Given the description of an element on the screen output the (x, y) to click on. 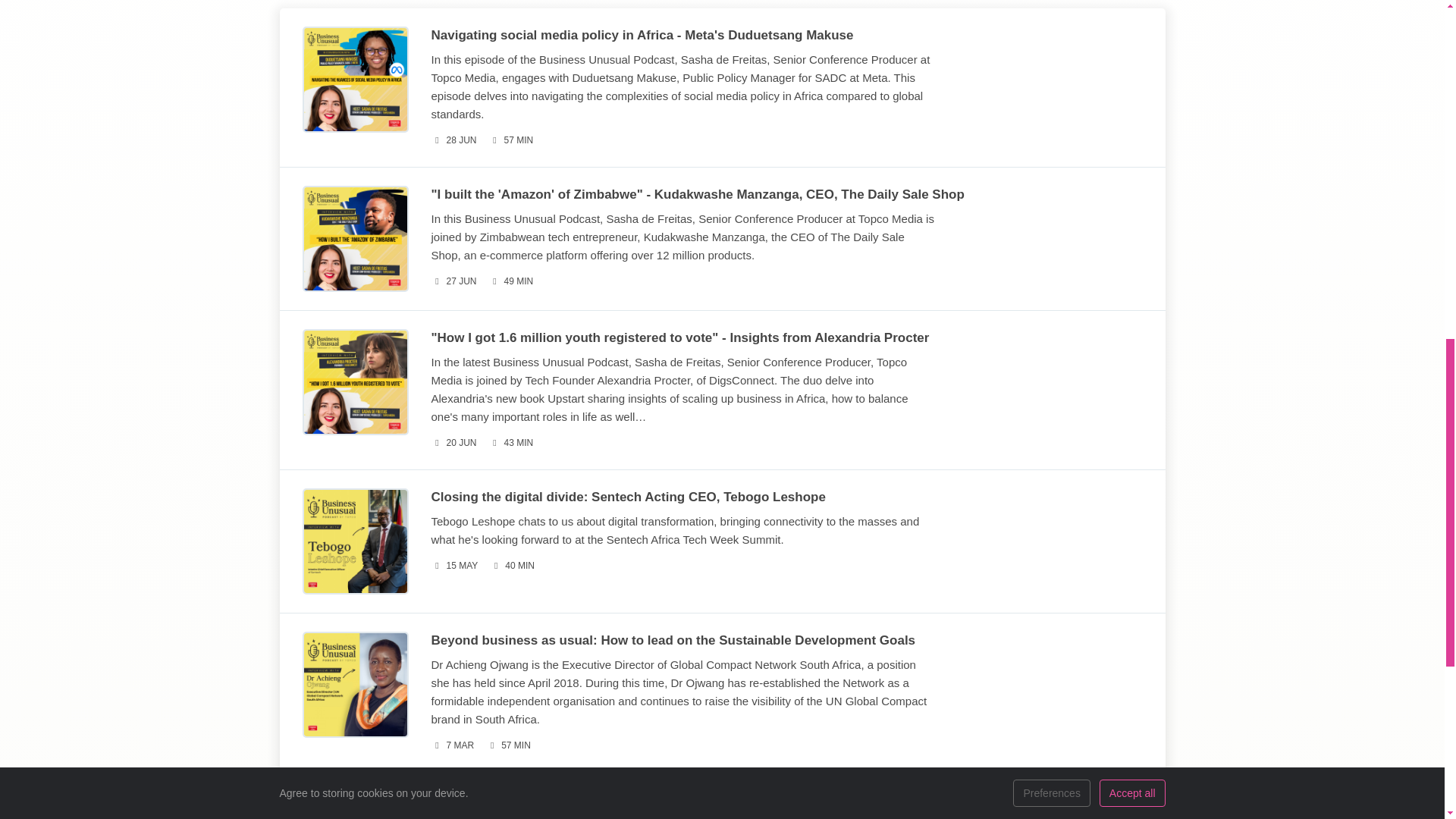
Duration (511, 140)
Published (453, 442)
Duration (511, 442)
Published (453, 140)
Published (453, 565)
Duration (508, 745)
Duration (511, 281)
Published (452, 745)
Published (453, 281)
Duration (511, 565)
